Given the description of an element on the screen output the (x, y) to click on. 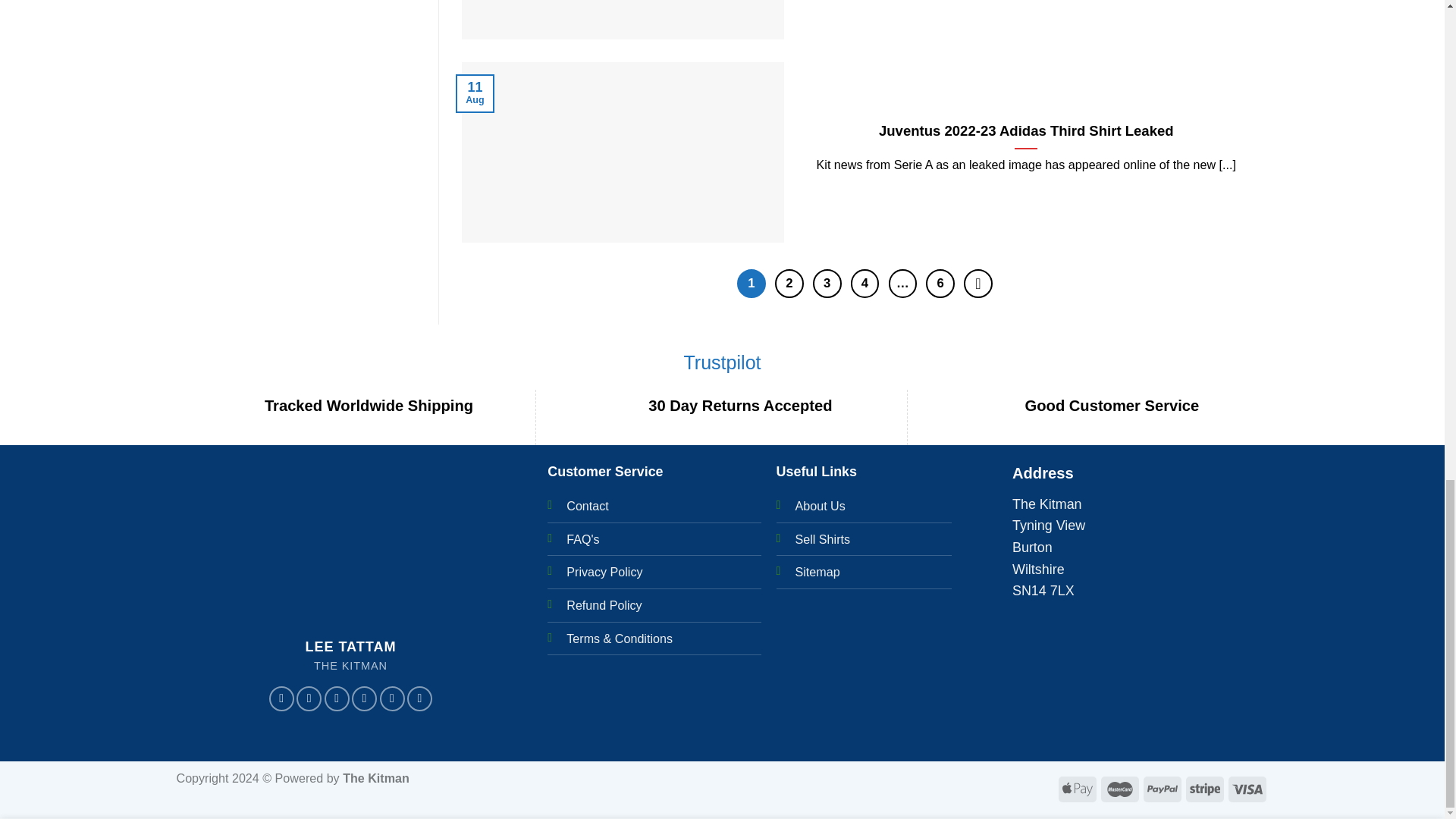
Send us an email (364, 698)
Follow on LinkedIn (419, 698)
Follow on Facebook (281, 698)
Call us (391, 698)
Follow on Instagram (309, 698)
Follow on Twitter (336, 698)
